Given the description of an element on the screen output the (x, y) to click on. 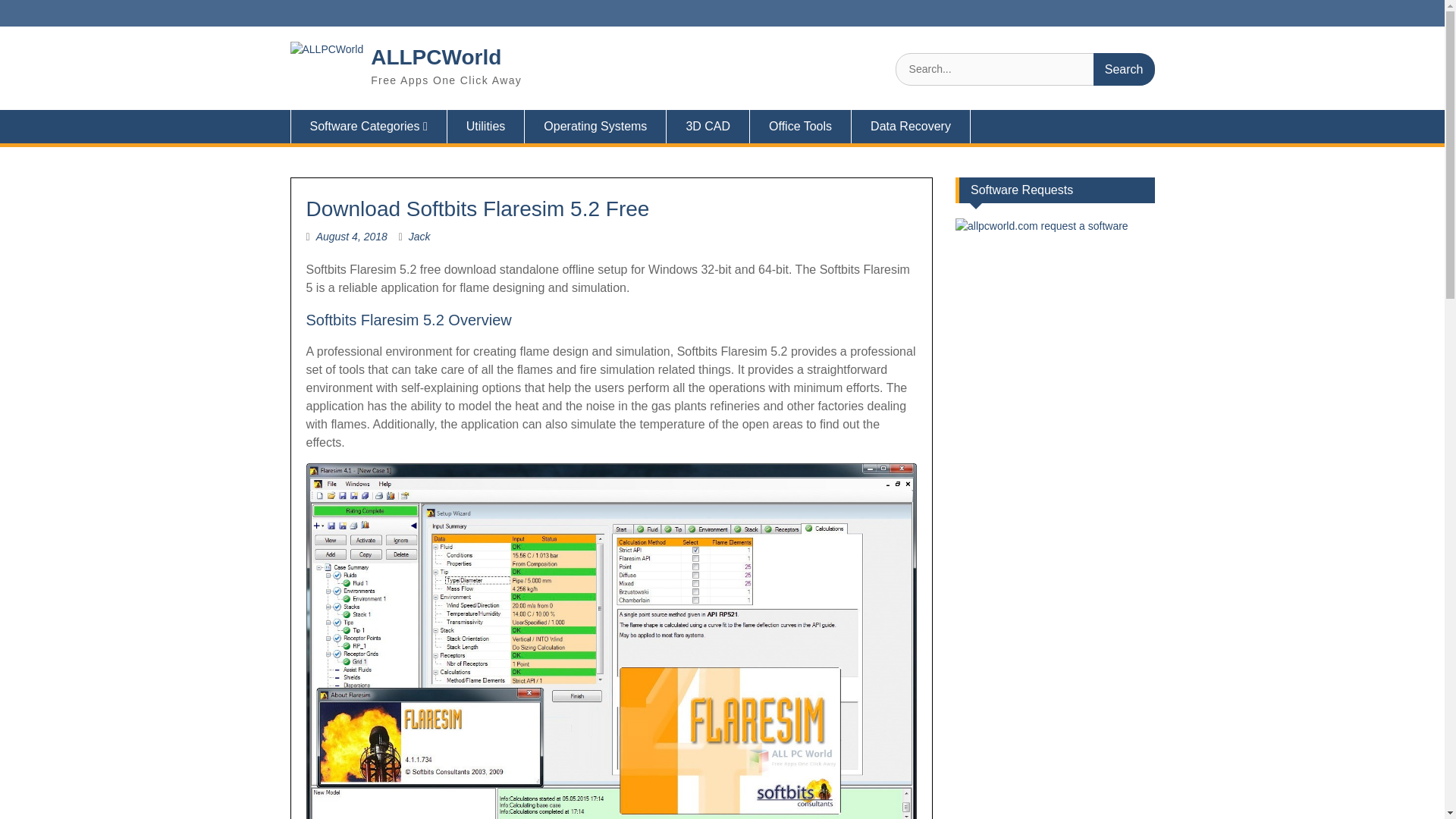
Utilities (485, 126)
3D CAD (707, 126)
August 4, 2018 (351, 236)
Operating Systems (595, 126)
Office Tools (800, 126)
ALLPCWorld (435, 56)
Search (1123, 69)
Search (1123, 69)
Search for: (1024, 69)
Data Recovery (911, 126)
